Given the description of an element on the screen output the (x, y) to click on. 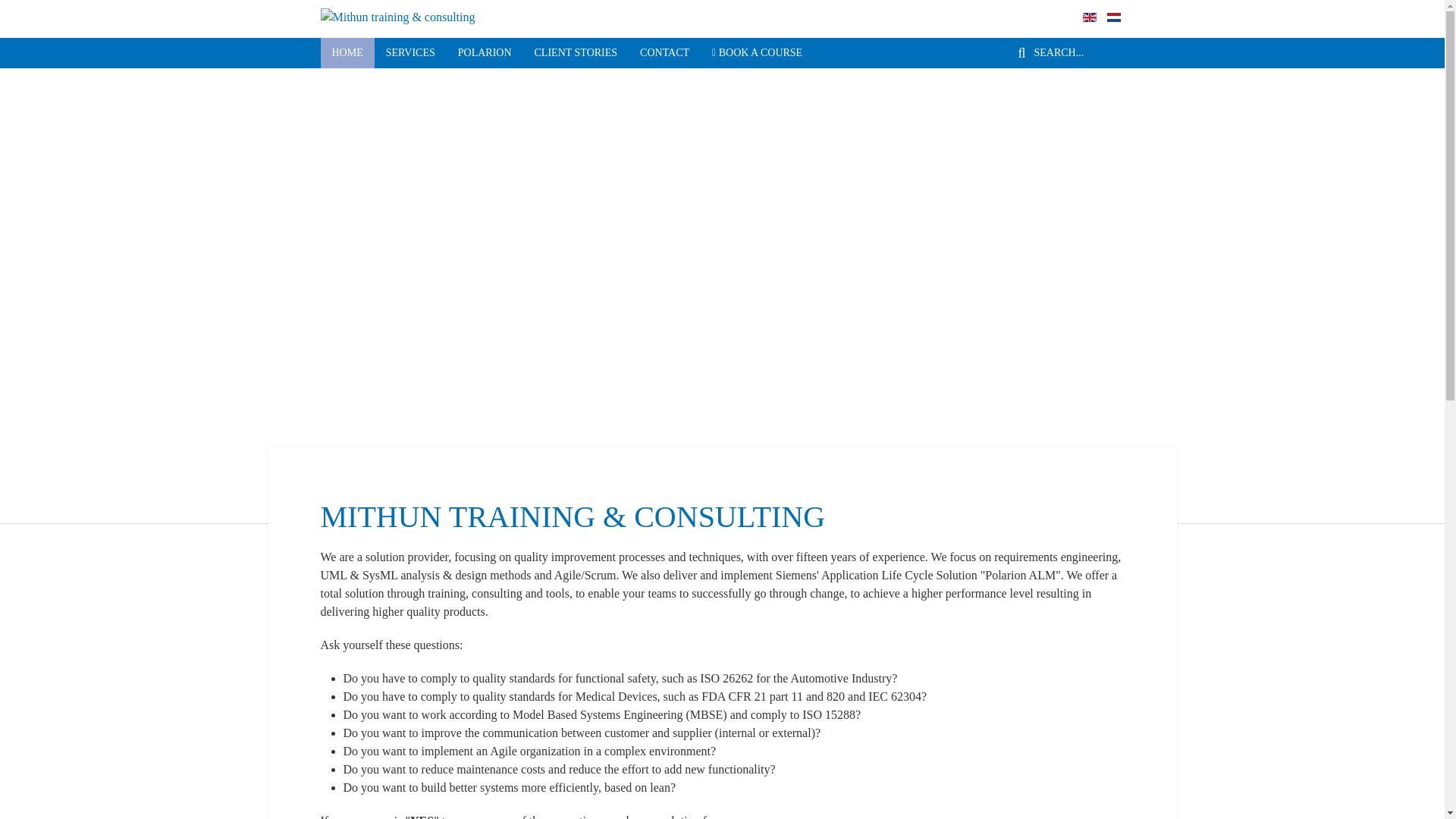
BOOK A COURSE (756, 52)
SERVICES (410, 52)
CLIENT STORIES (575, 52)
CONTACT (664, 52)
HOME (347, 52)
POLARION (484, 52)
